Given the description of an element on the screen output the (x, y) to click on. 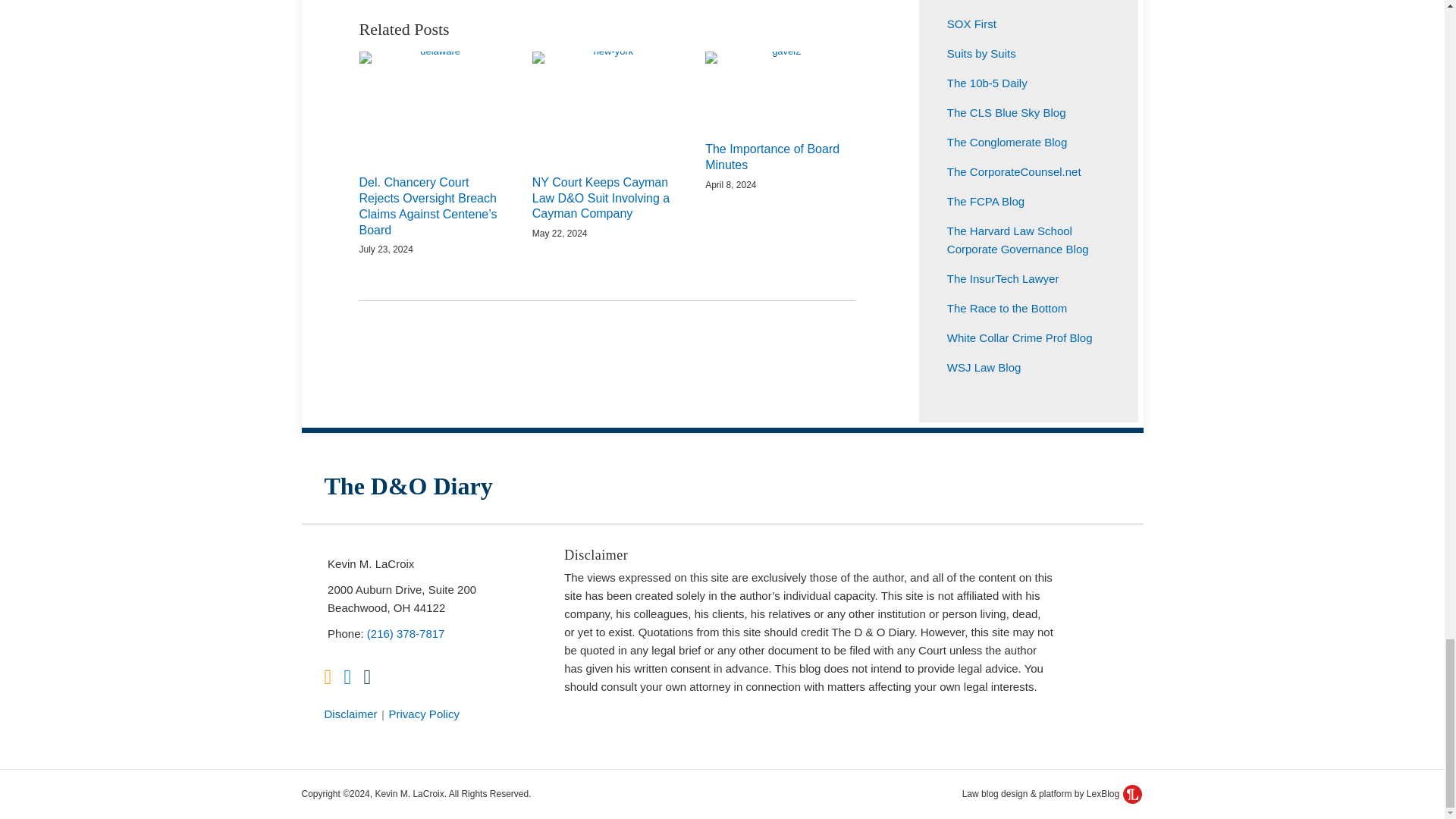
LexBlog Logo (1131, 793)
The InsurTech Lawyer (1003, 278)
